Given the description of an element on the screen output the (x, y) to click on. 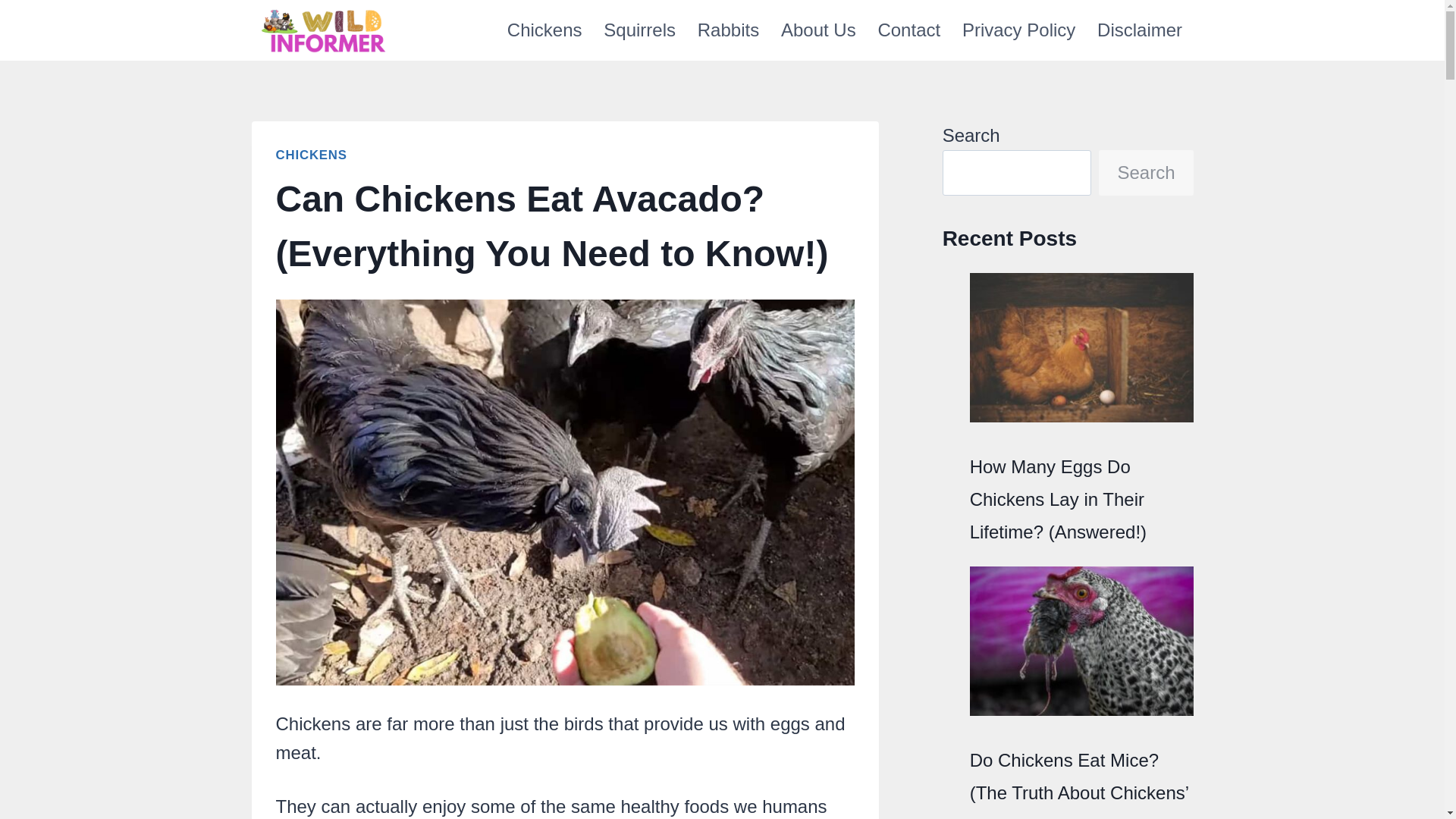
Chickens (544, 29)
CHICKENS (311, 155)
Squirrels (638, 29)
Privacy Policy (1019, 29)
About Us (818, 29)
Rabbits (727, 29)
Disclaimer (1139, 29)
Contact (909, 29)
